Given the description of an element on the screen output the (x, y) to click on. 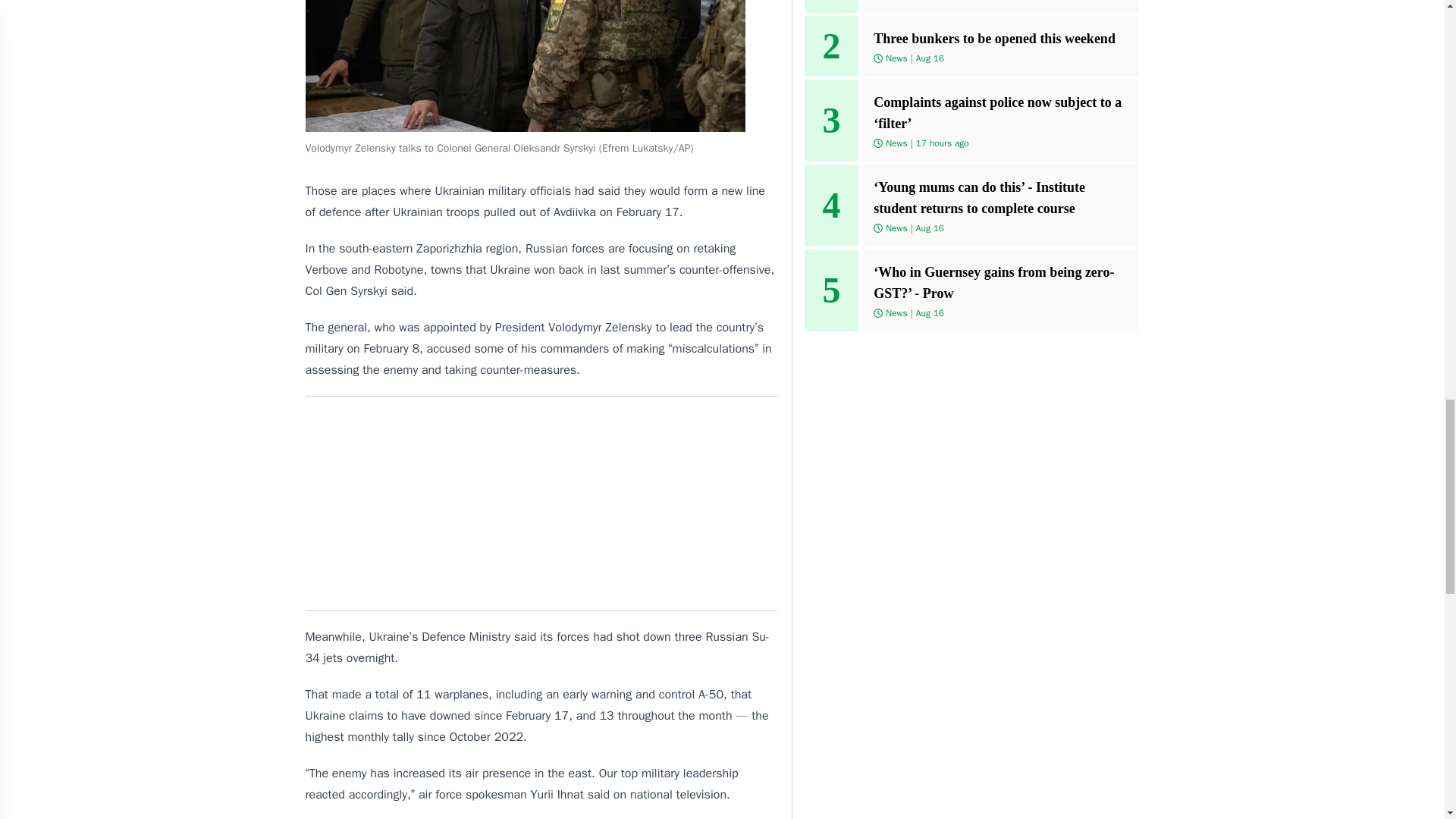
News (896, 312)
News (896, 142)
News (896, 227)
News (896, 57)
